Given the description of an element on the screen output the (x, y) to click on. 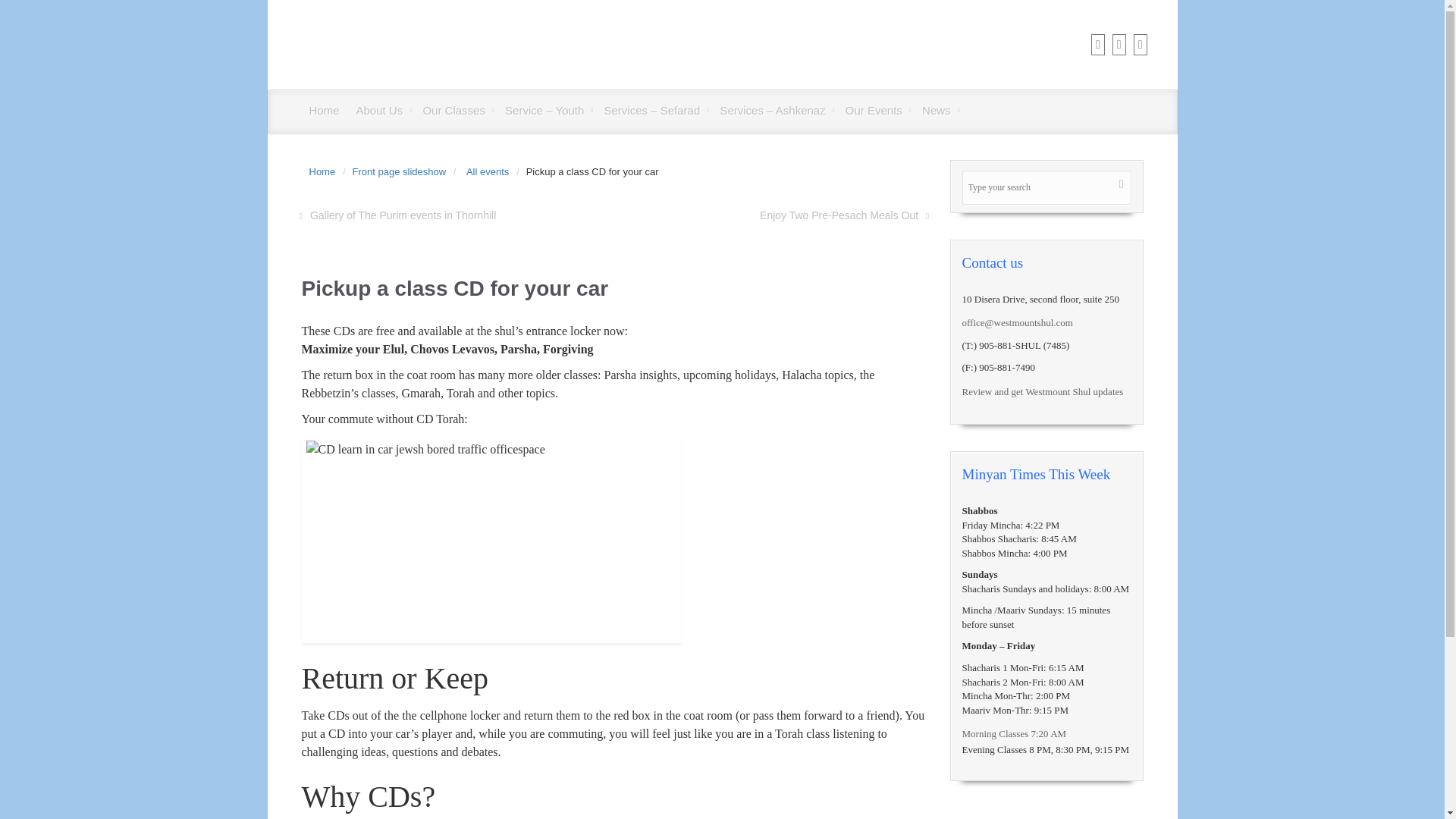
Our Classes (455, 110)
About Us (381, 110)
Home (325, 110)
Our Events (876, 110)
Front page slideshow (403, 170)
All events (490, 170)
